Given the description of an element on the screen output the (x, y) to click on. 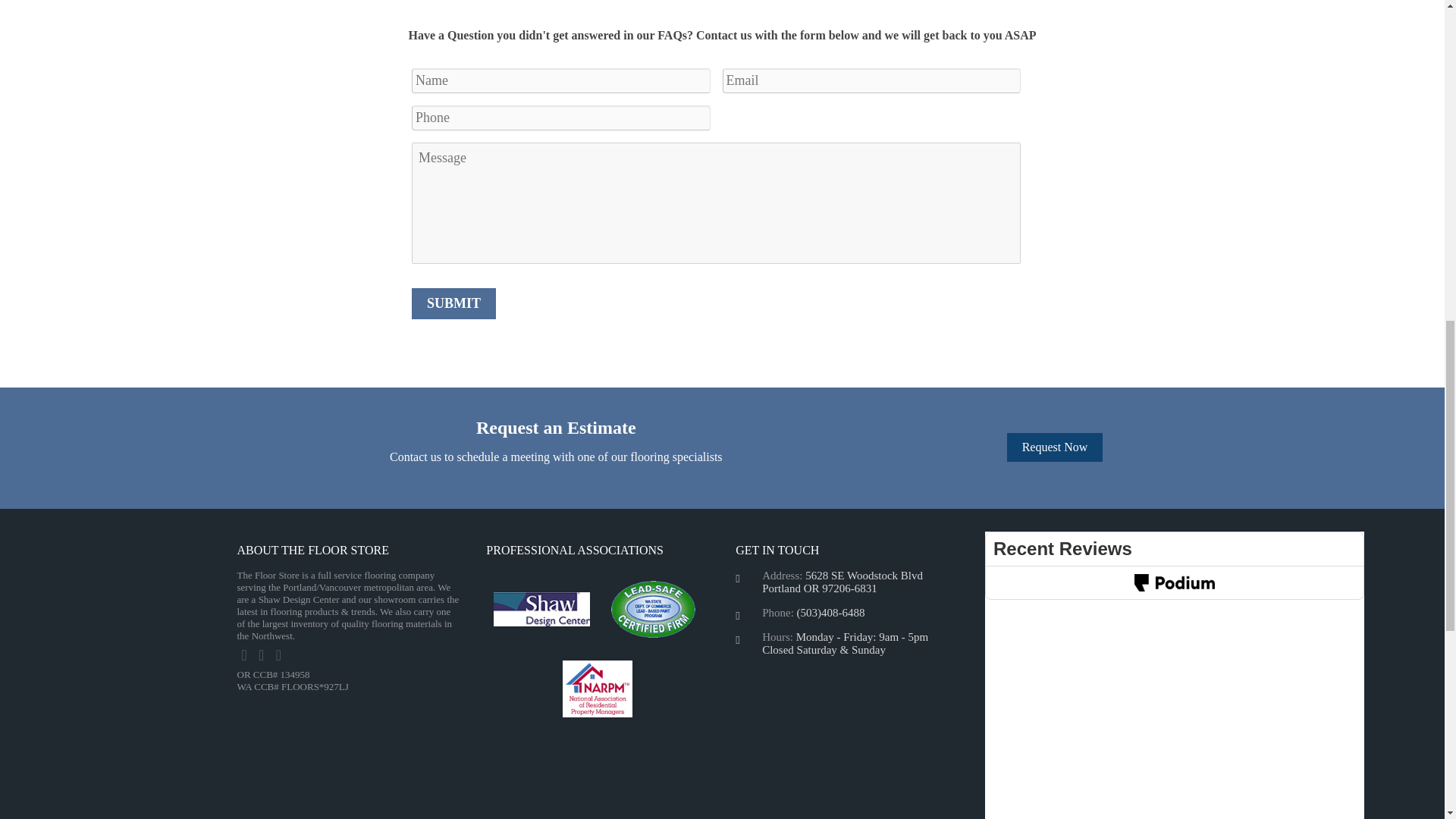
Submit (454, 303)
Submit (454, 303)
Request Now (1055, 447)
